Given the description of an element on the screen output the (x, y) to click on. 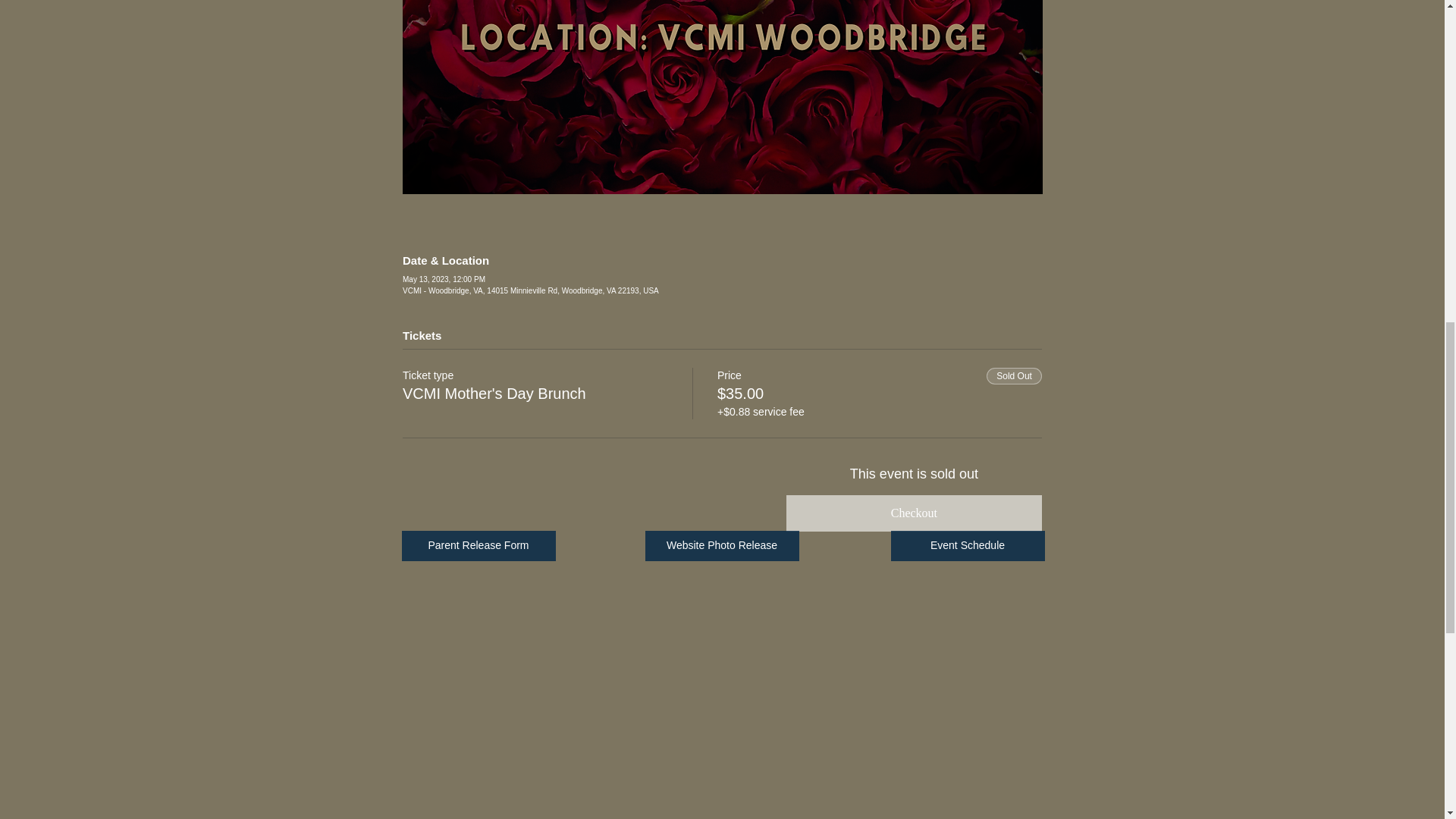
Website Photo Release (721, 545)
Parent Release Form (478, 545)
Event Schedule (966, 545)
Checkout (914, 513)
